Given the description of an element on the screen output the (x, y) to click on. 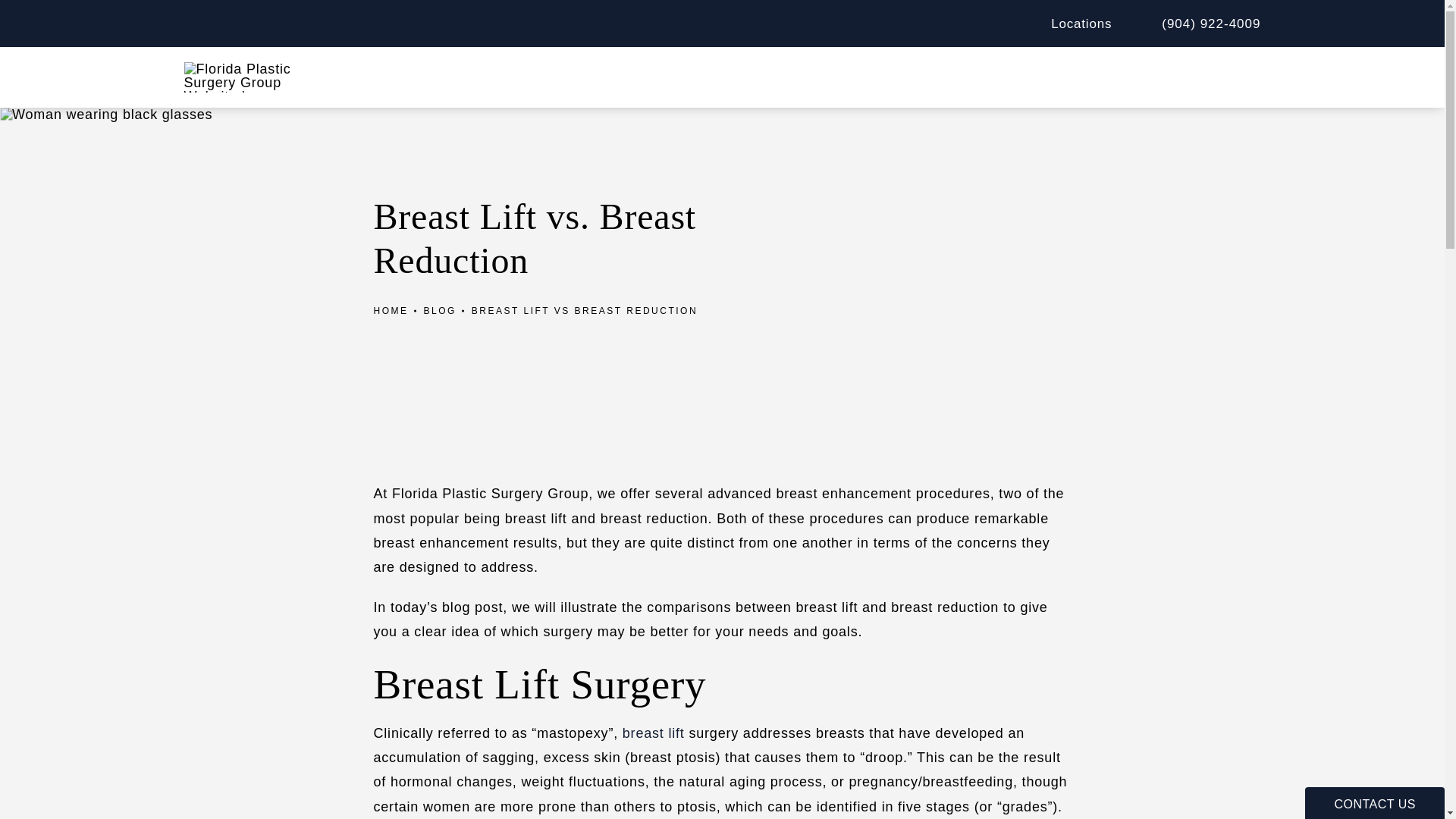
Florida Plastic Surgery Group on Facebook (947, 25)
Florida Plastic Surgery Group on Youtube (987, 25)
Florida Plastic Surgery Group on Instagram (907, 25)
Locations (1070, 23)
